Given the description of an element on the screen output the (x, y) to click on. 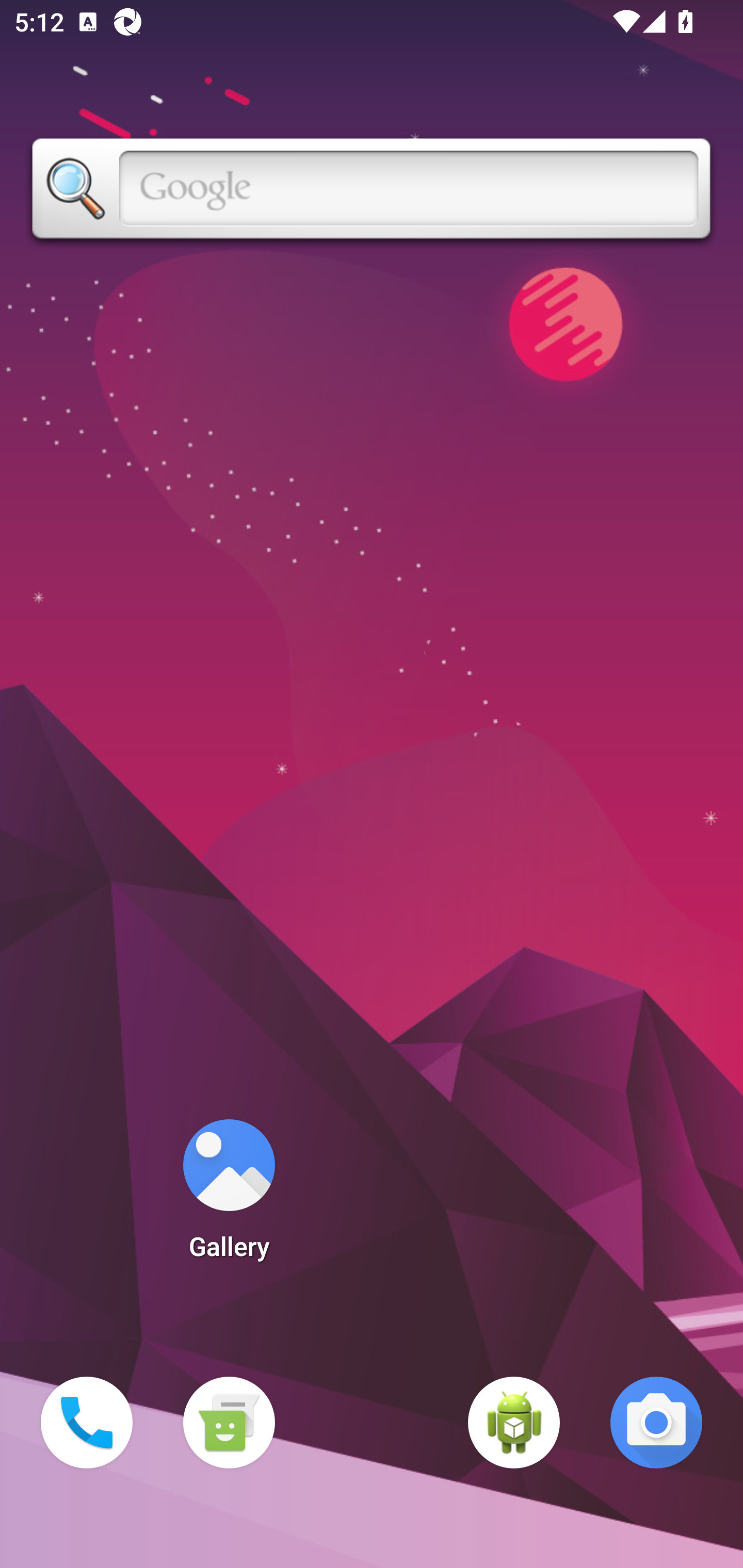
Gallery (228, 1195)
Phone (86, 1422)
Messaging (228, 1422)
WebView Browser Tester (513, 1422)
Camera (656, 1422)
